Given the description of an element on the screen output the (x, y) to click on. 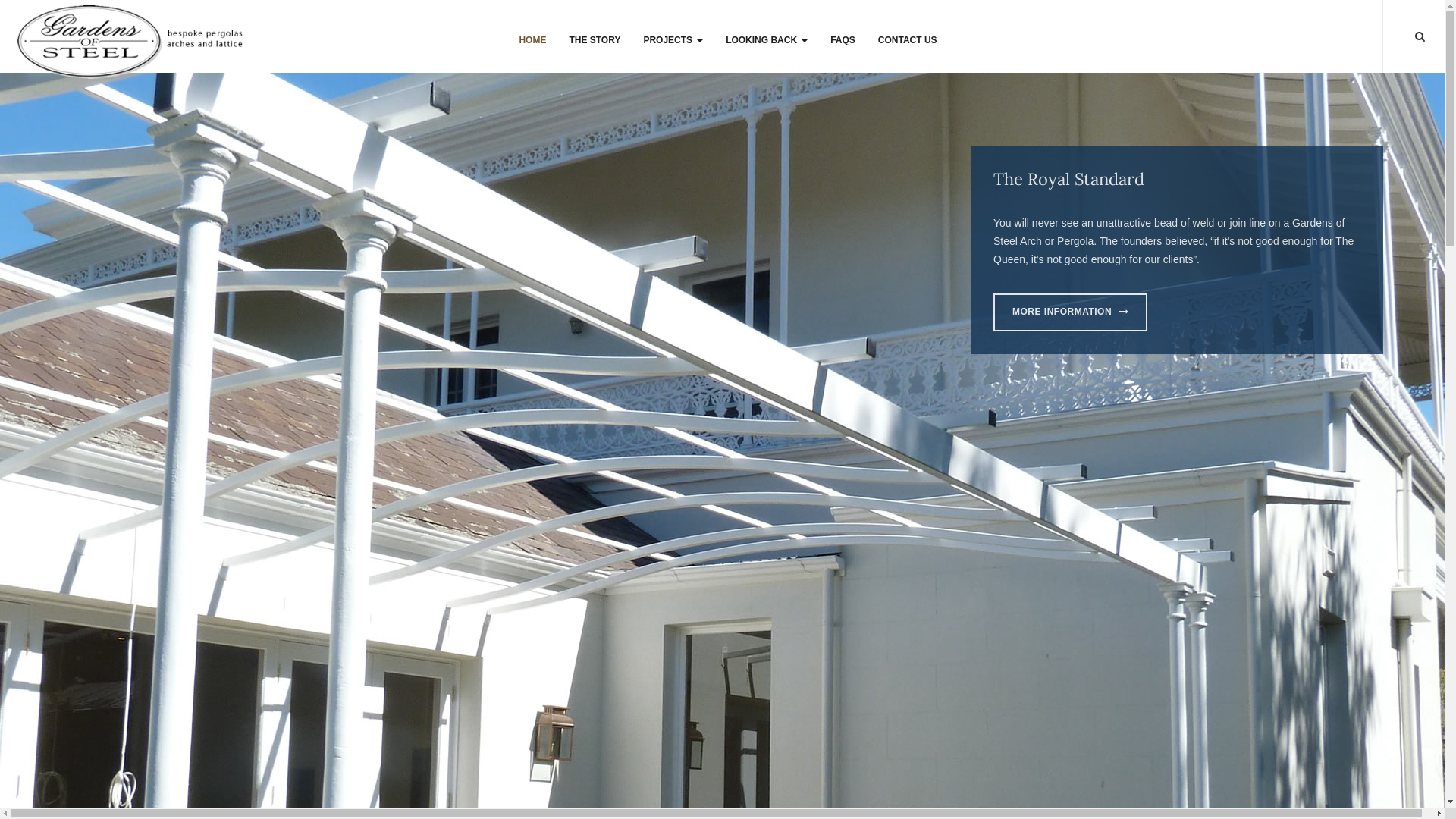
MORE INFORMATION Element type: text (1070, 312)
HOME Element type: text (532, 38)
Gardens of Steel Element type: hover (132, 39)
THE STORY Element type: text (594, 38)
FAQS Element type: text (842, 38)
CONTACT US Element type: text (907, 38)
